Given the description of an element on the screen output the (x, y) to click on. 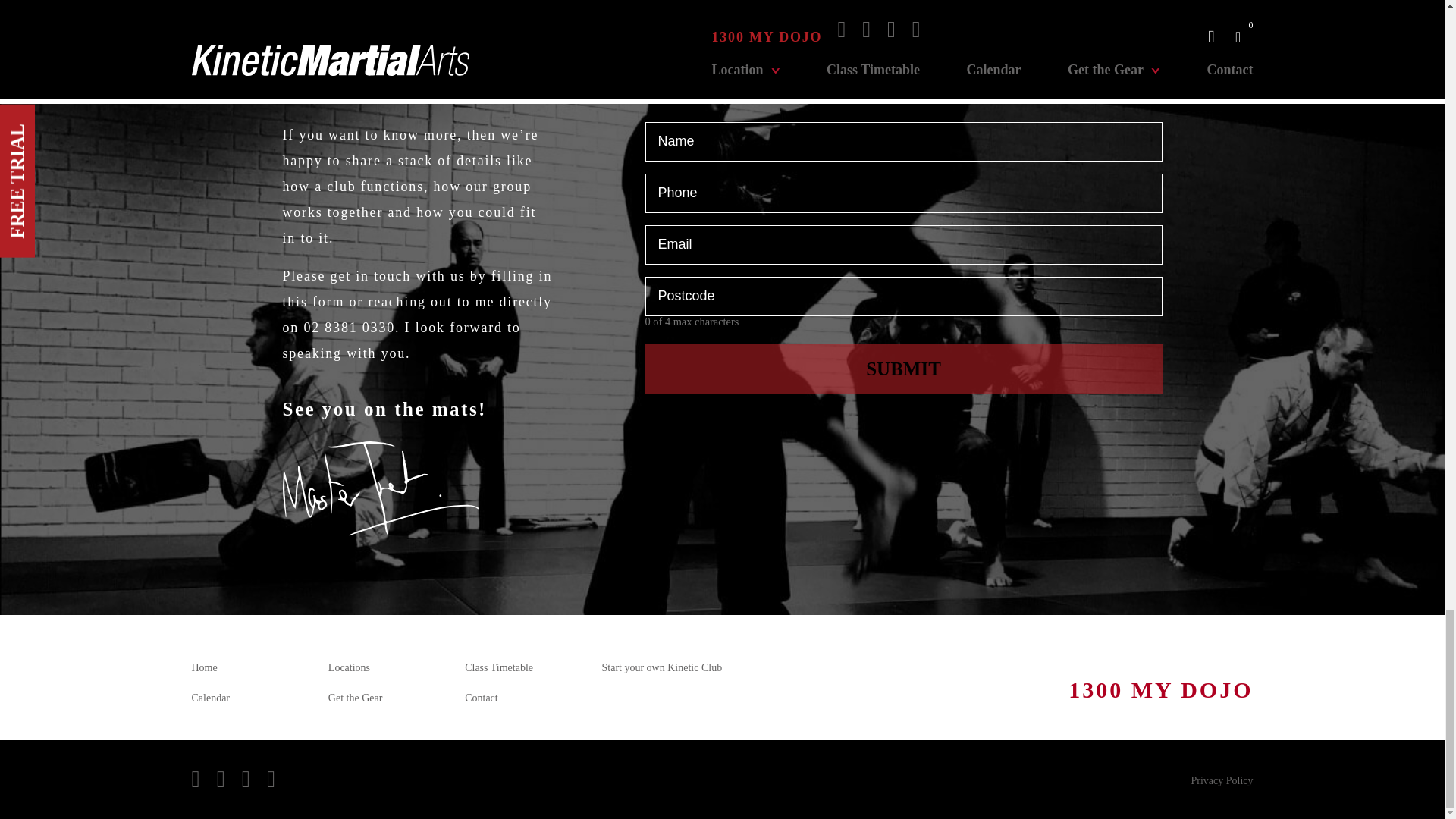
Submit (903, 368)
